Given the description of an element on the screen output the (x, y) to click on. 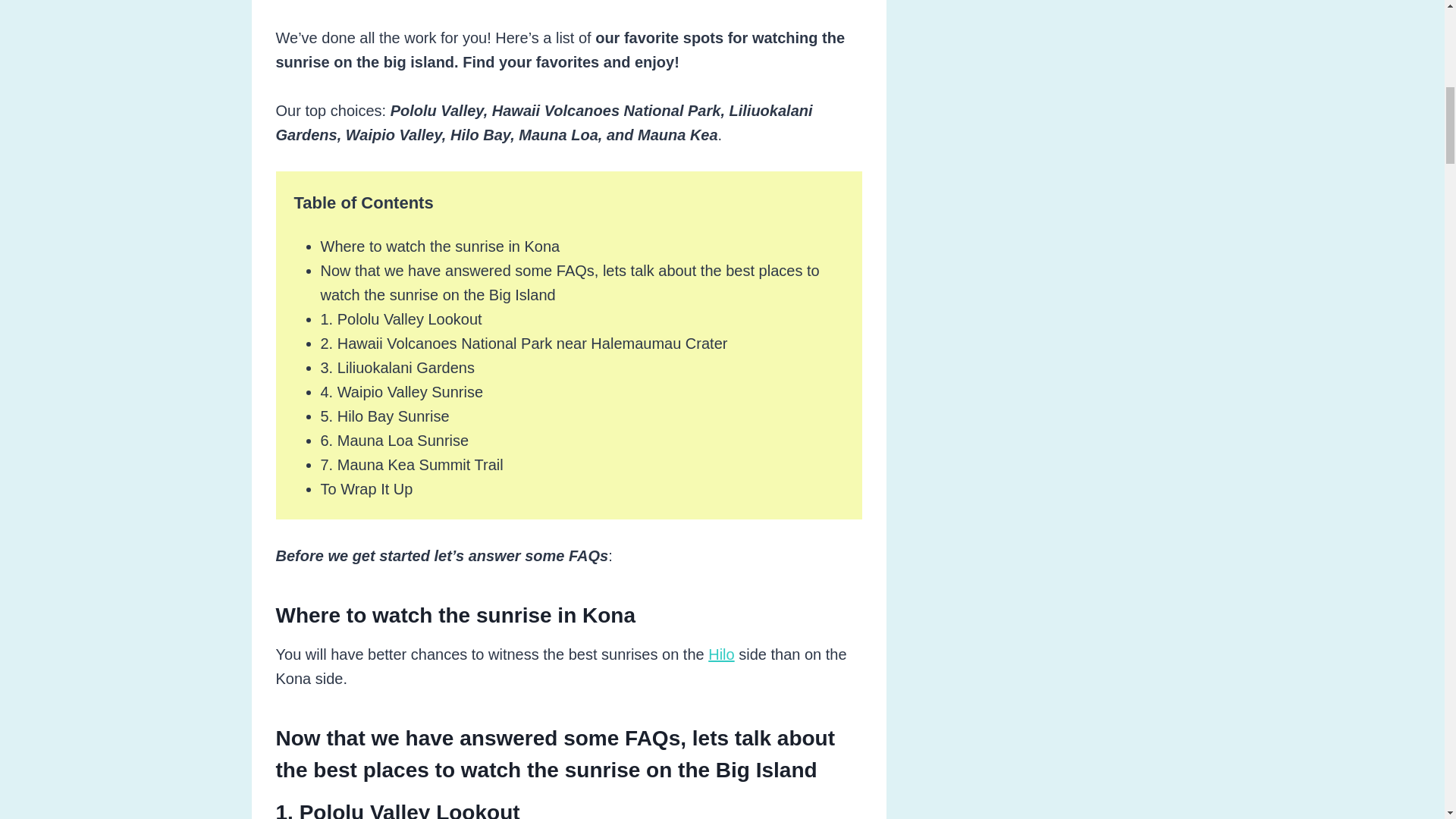
3. Liliuokalani Gardens (397, 367)
5. Hilo Bay Sunrise (384, 416)
Where to watch the sunrise in Kona (439, 246)
1. Pololu Valley Lookout (400, 319)
Hilo (720, 654)
To Wrap It Up (366, 488)
4. Waipio Valley Sunrise (401, 392)
2. Hawaii Volcanoes National Park near Halemaumau Crater (523, 343)
6. Mauna Loa Sunrise (394, 440)
